Given the description of an element on the screen output the (x, y) to click on. 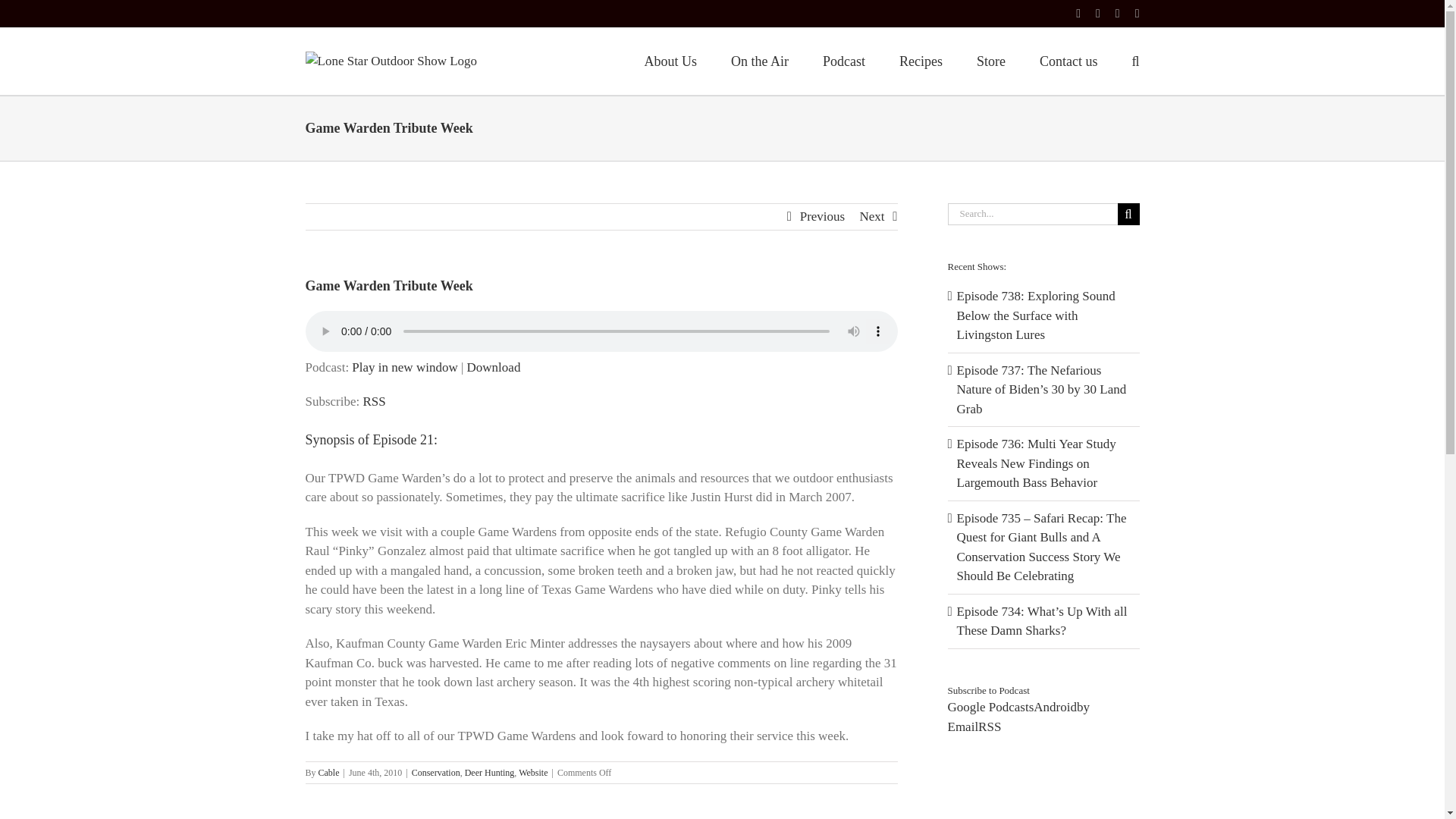
On the Air (759, 59)
Download (494, 367)
Deer Hunting (489, 772)
RSS (373, 400)
Website (532, 772)
Play in new window (404, 367)
Download (494, 367)
Posts by Cable (328, 772)
Conservation (436, 772)
Cable (328, 772)
